Given the description of an element on the screen output the (x, y) to click on. 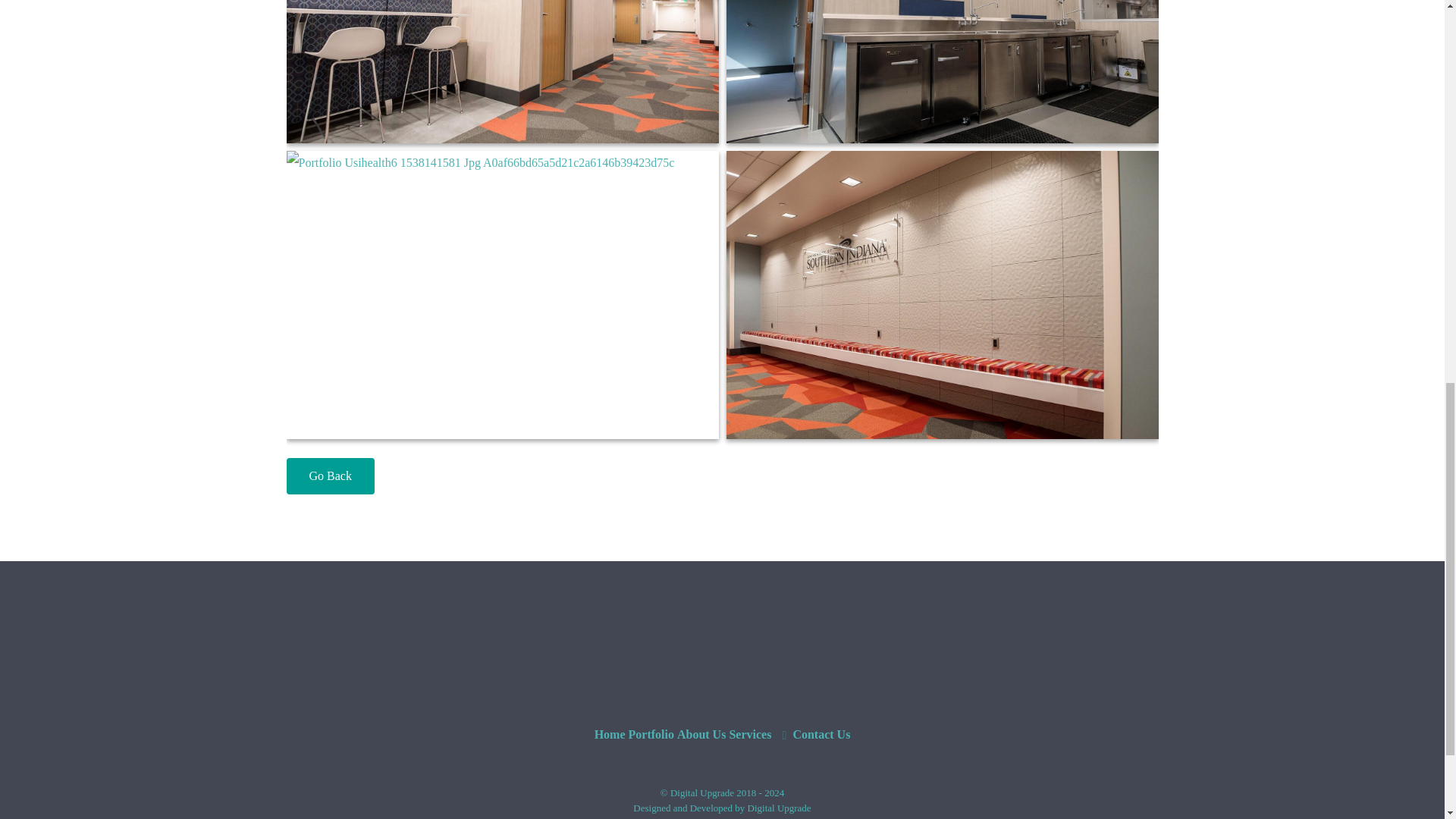
About Us (701, 733)
Home (610, 733)
Go Back (330, 475)
Portfolio (649, 733)
